Given the description of an element on the screen output the (x, y) to click on. 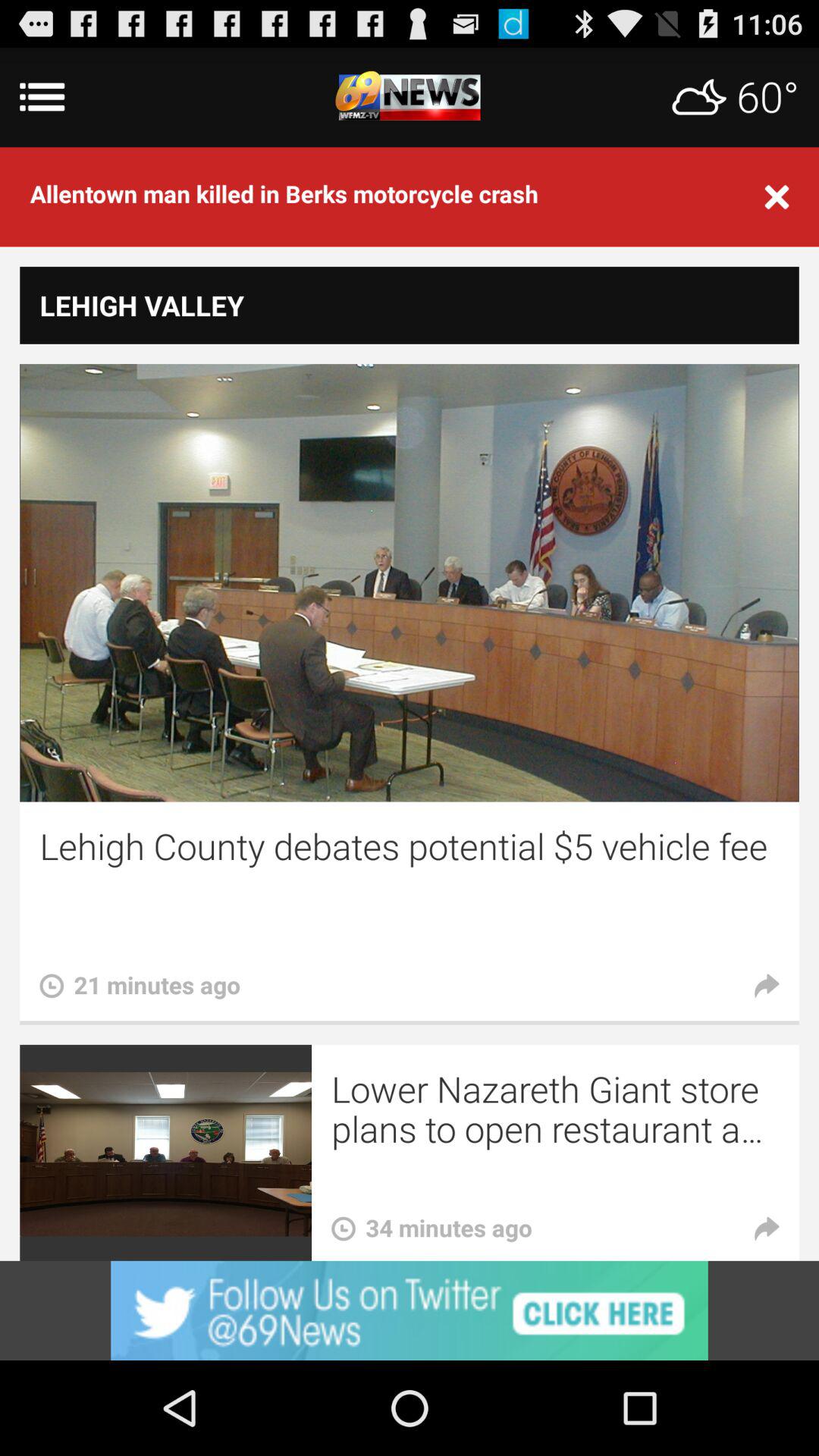
open news page (409, 97)
